Given the description of an element on the screen output the (x, y) to click on. 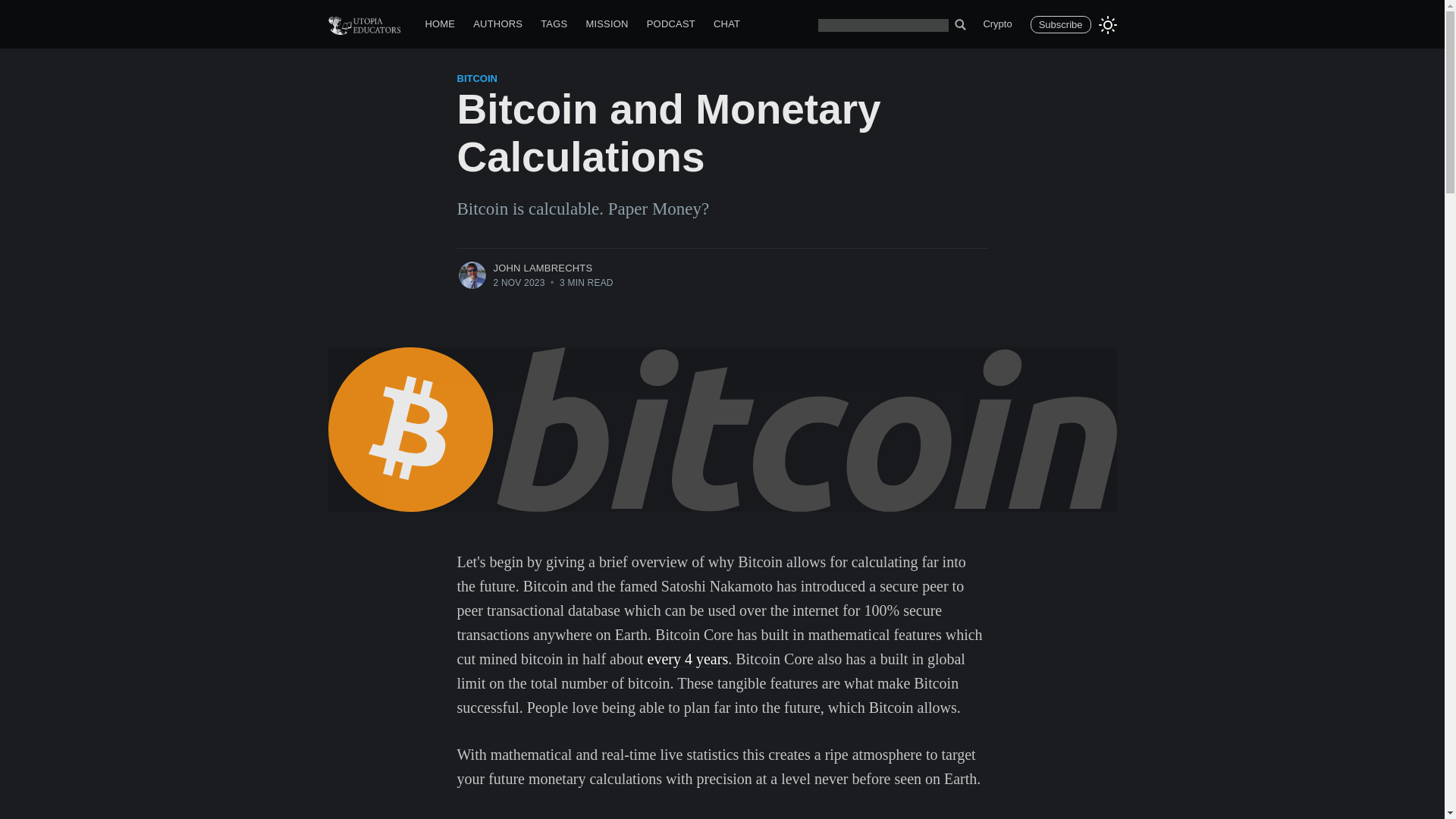
HOME (439, 24)
AUTHORS (497, 24)
BITCOIN (476, 78)
Subscribe (1060, 23)
PODCAST (670, 24)
every 4 years (688, 658)
JOHN LAMBRECHTS (542, 267)
Crypto (997, 24)
MISSION (606, 24)
CHAT (726, 24)
